Given the description of an element on the screen output the (x, y) to click on. 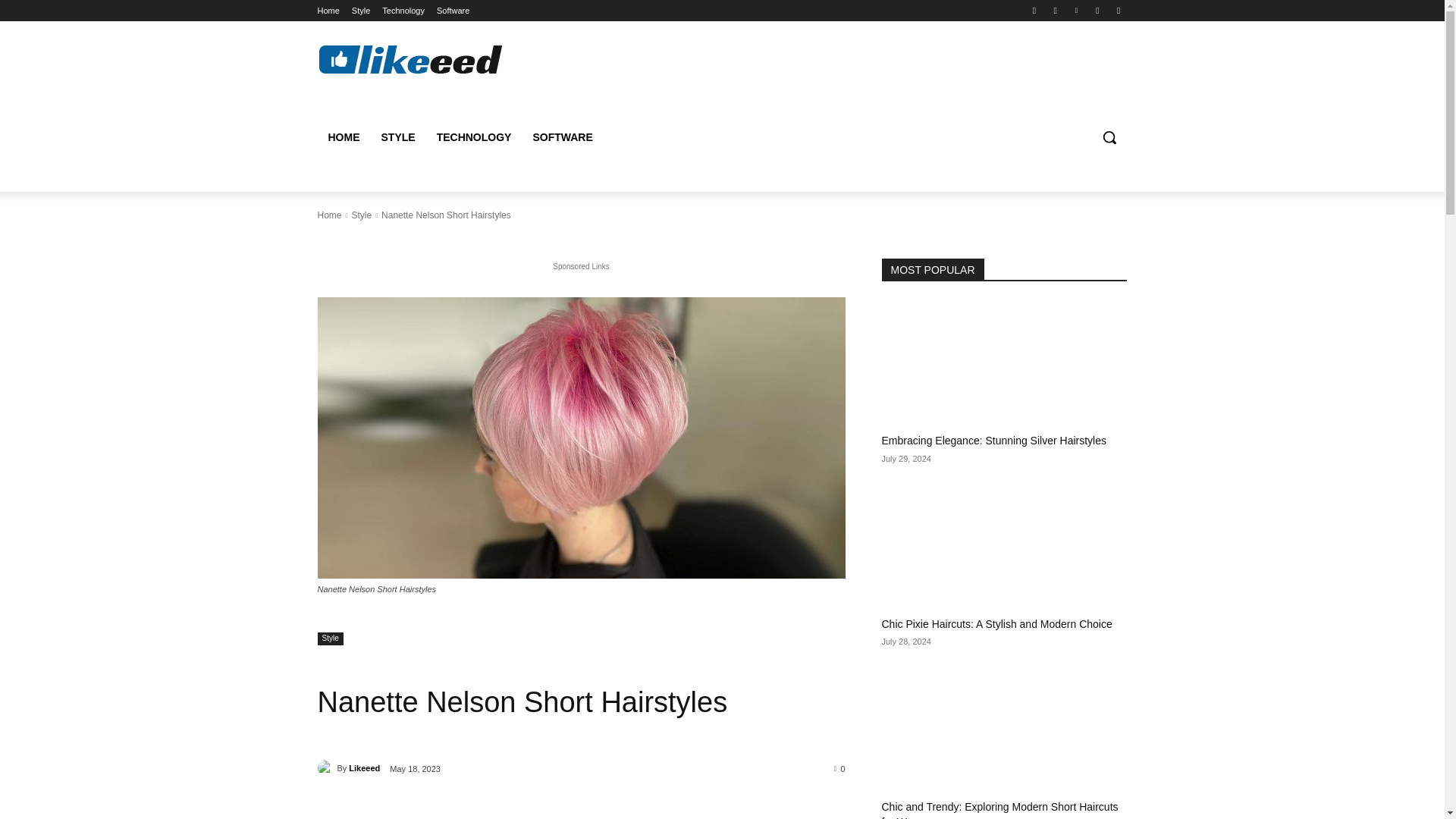
Home (328, 214)
Home (328, 10)
TECHNOLOGY (474, 136)
SOFTWARE (561, 136)
Likeeed (364, 767)
Style (329, 638)
Software (452, 10)
Pinterest (1075, 9)
Style (360, 214)
HOME (343, 136)
Technology (403, 10)
RSS (1097, 9)
Instagram (1055, 9)
Facebook (1034, 9)
STYLE (397, 136)
